Given the description of an element on the screen output the (x, y) to click on. 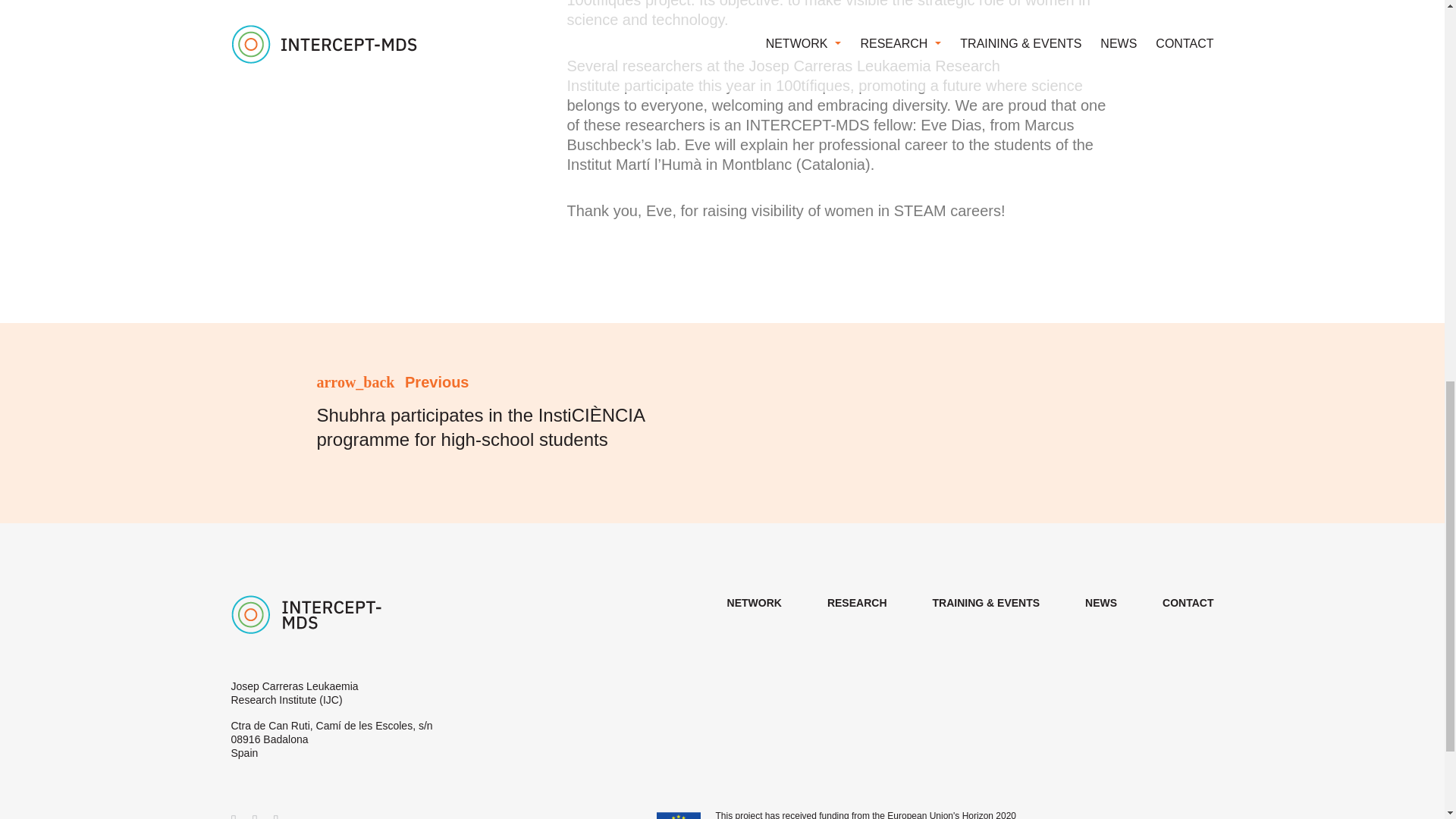
RESEARCH (856, 603)
NETWORK (753, 603)
NEWS (1100, 603)
CONTACT (1186, 603)
